Given the description of an element on the screen output the (x, y) to click on. 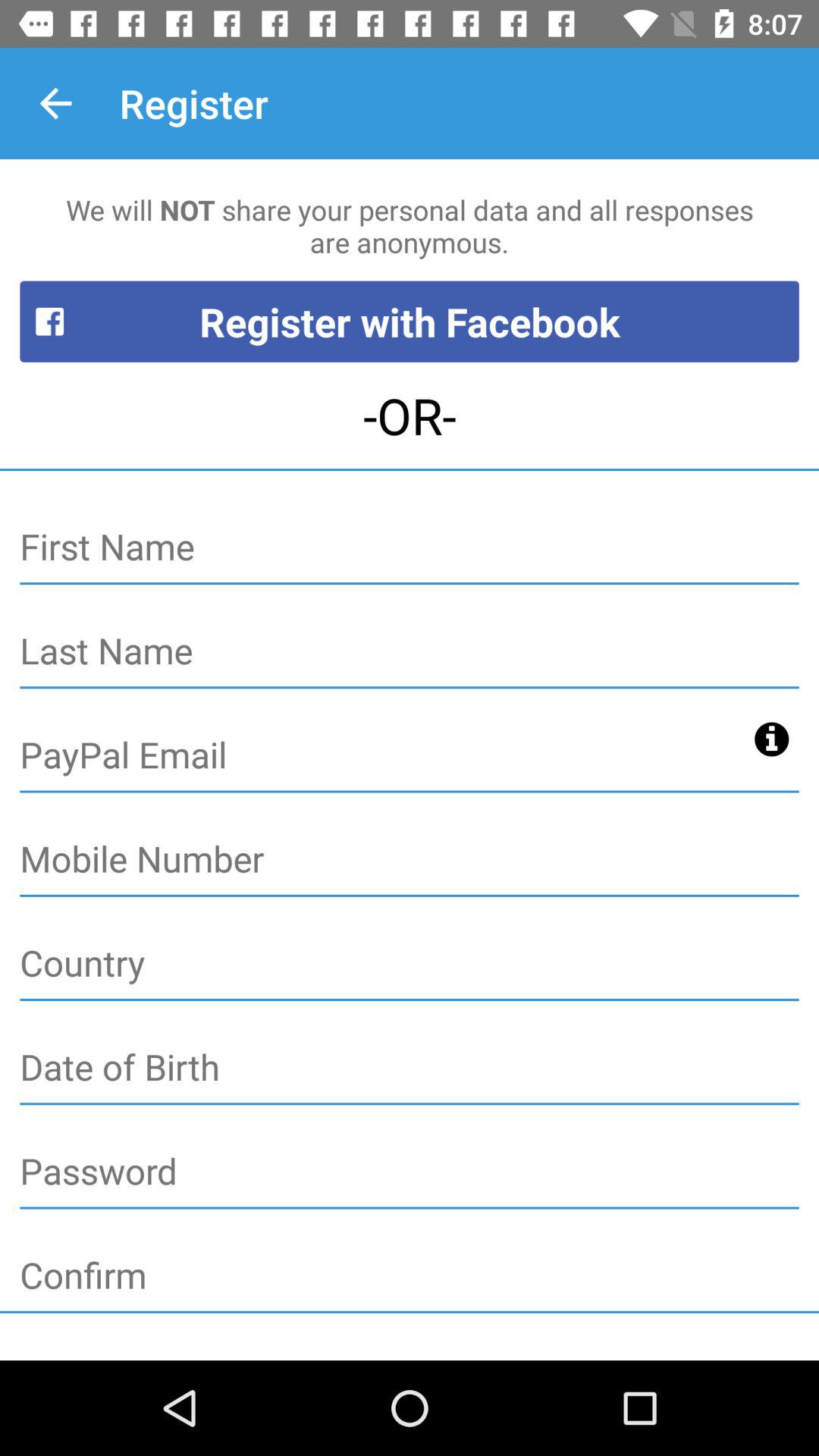
select item next to the register app (55, 103)
